Given the description of an element on the screen output the (x, y) to click on. 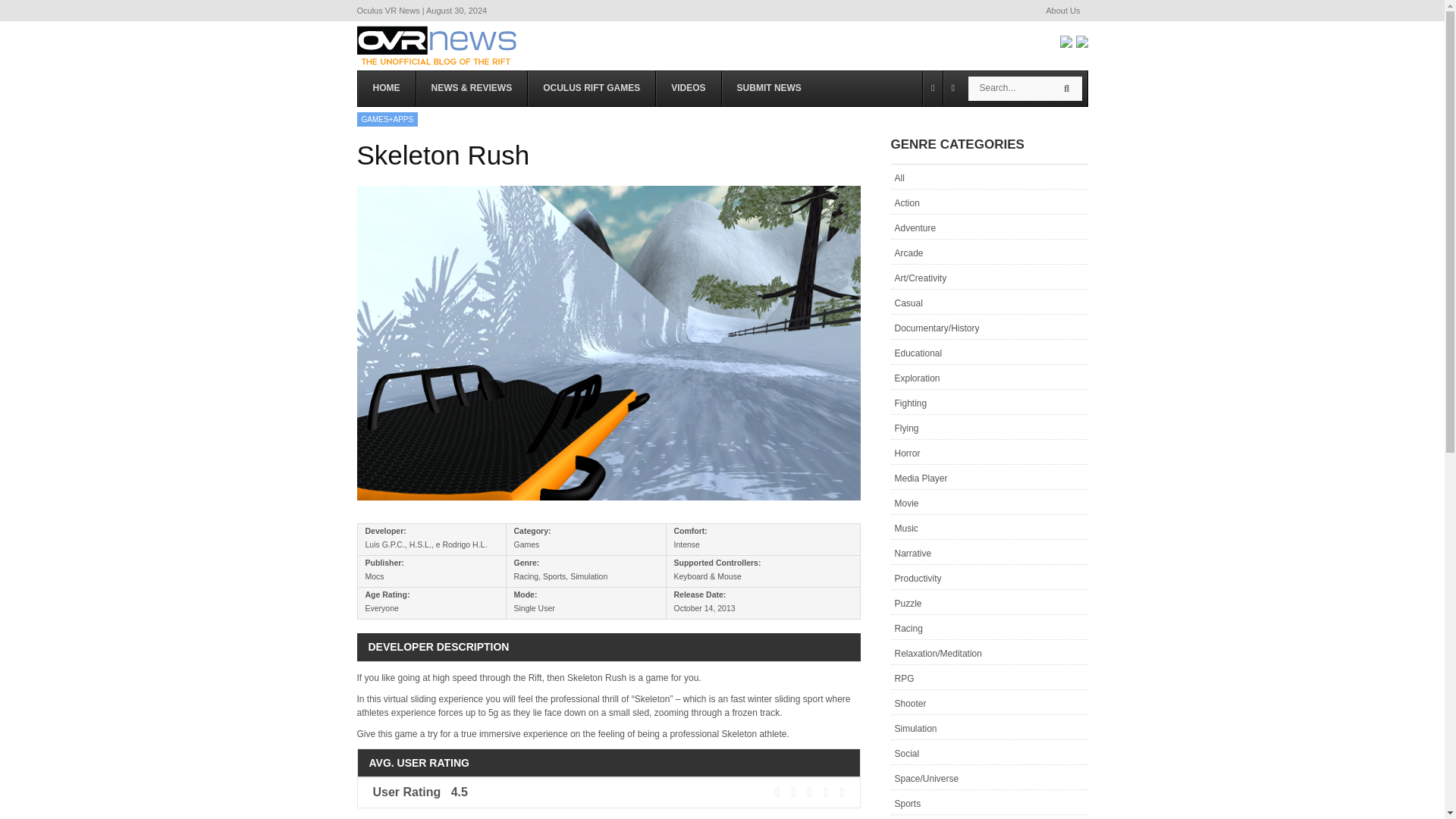
Arcade (988, 251)
Oculus videos from around the web (687, 88)
Follow us on Facebook (1065, 41)
OCULUS RIFT GAMES (591, 88)
About Us (1062, 10)
Our latest VR news coverage for all things Oculus (470, 88)
HOME (386, 88)
Casual (988, 301)
Action (988, 201)
Discover Oculus Rift Games and Apps (591, 88)
